Given the description of an element on the screen output the (x, y) to click on. 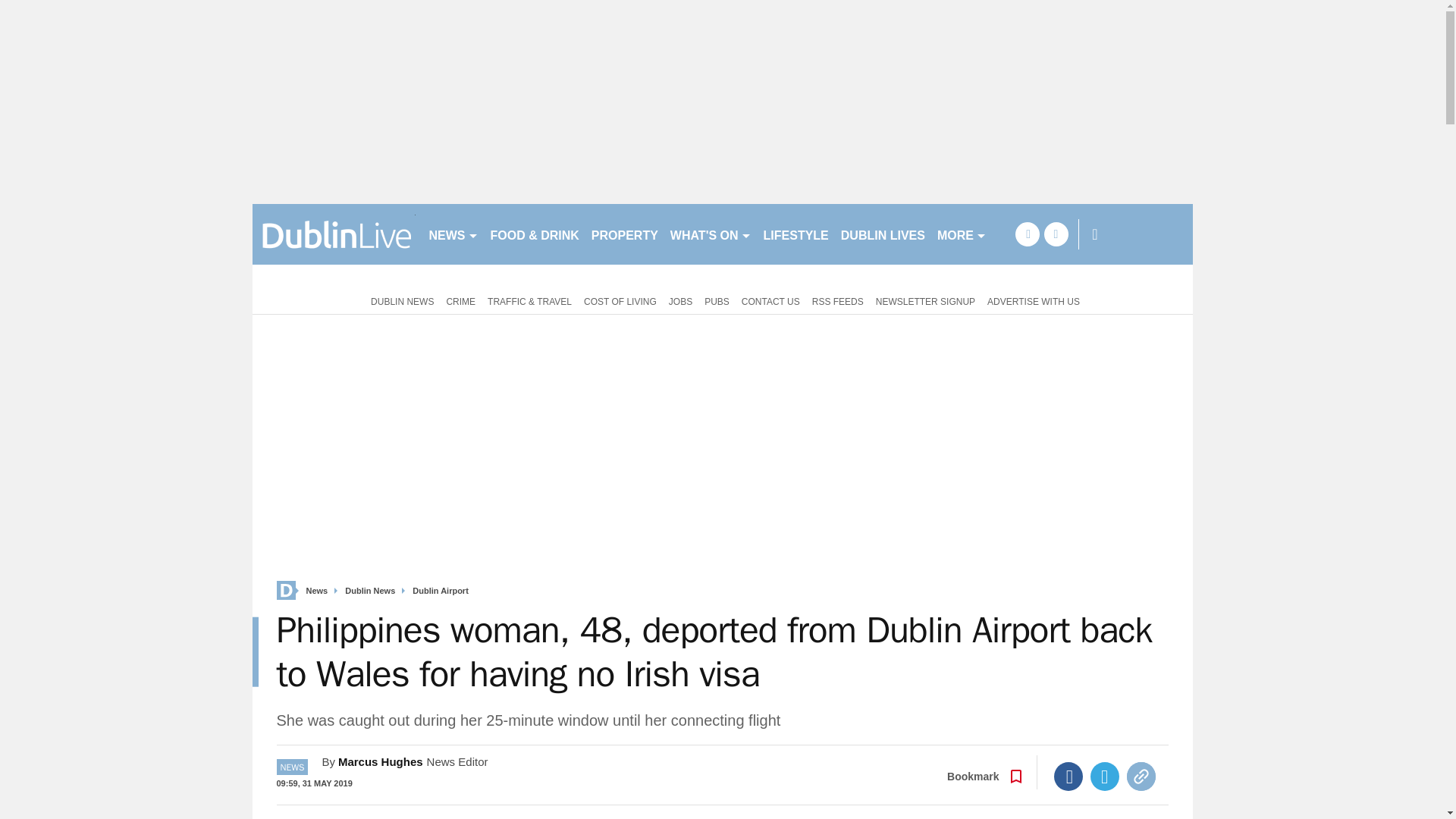
MORE (961, 233)
LIFESTYLE (795, 233)
dublinlive (332, 233)
facebook (1026, 233)
Twitter (1104, 776)
NEWS (453, 233)
twitter (1055, 233)
PROPERTY (624, 233)
DUBLIN LIVES (882, 233)
WHAT'S ON (710, 233)
